Given the description of an element on the screen output the (x, y) to click on. 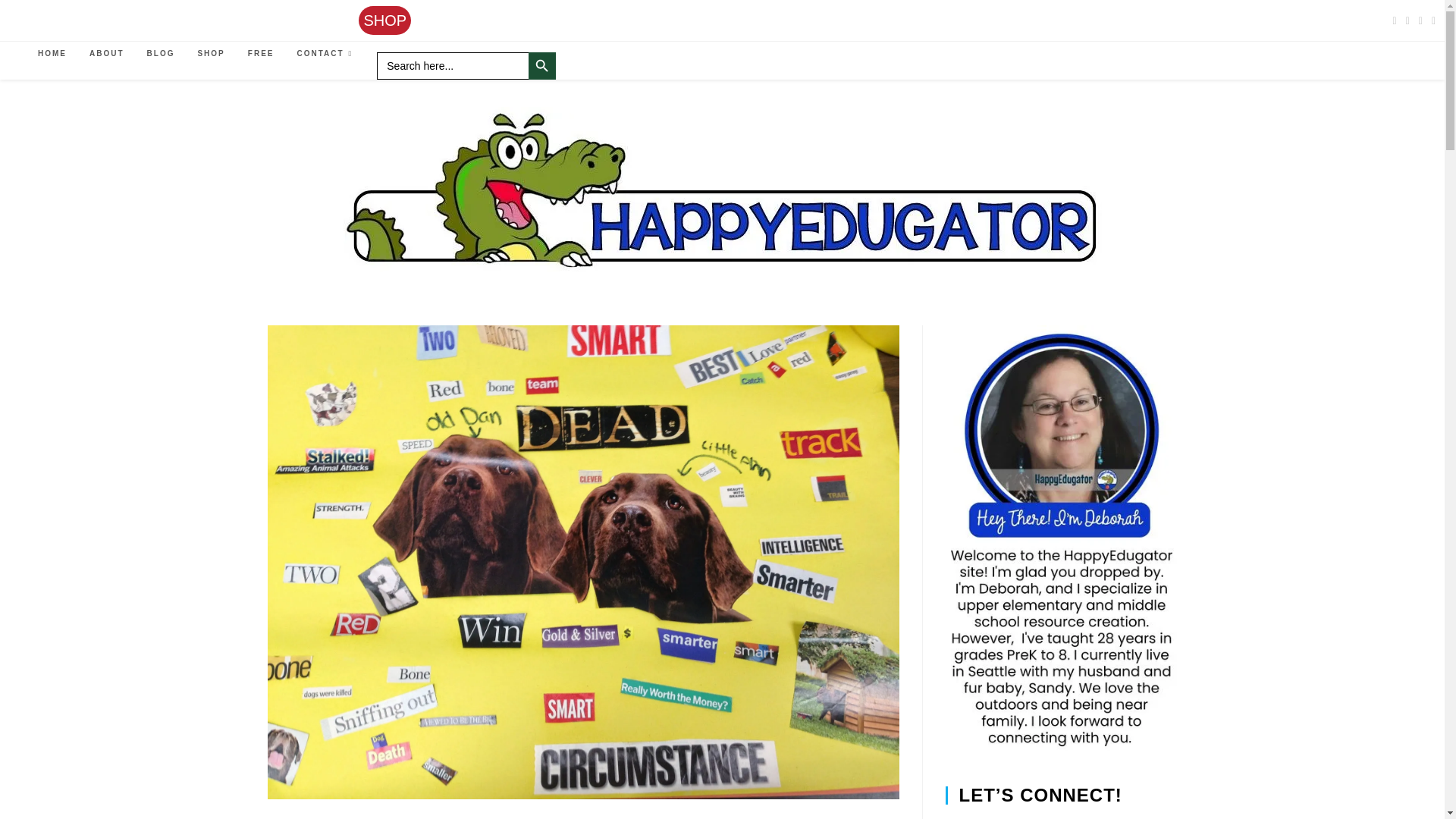
BLOG (160, 53)
FREE (260, 53)
CONTACT (326, 53)
SHOP (384, 20)
SEARCH BUTTON (542, 65)
HOME (52, 53)
SHOP (384, 20)
SHOP (210, 53)
ABOUT (106, 53)
